Given the description of an element on the screen output the (x, y) to click on. 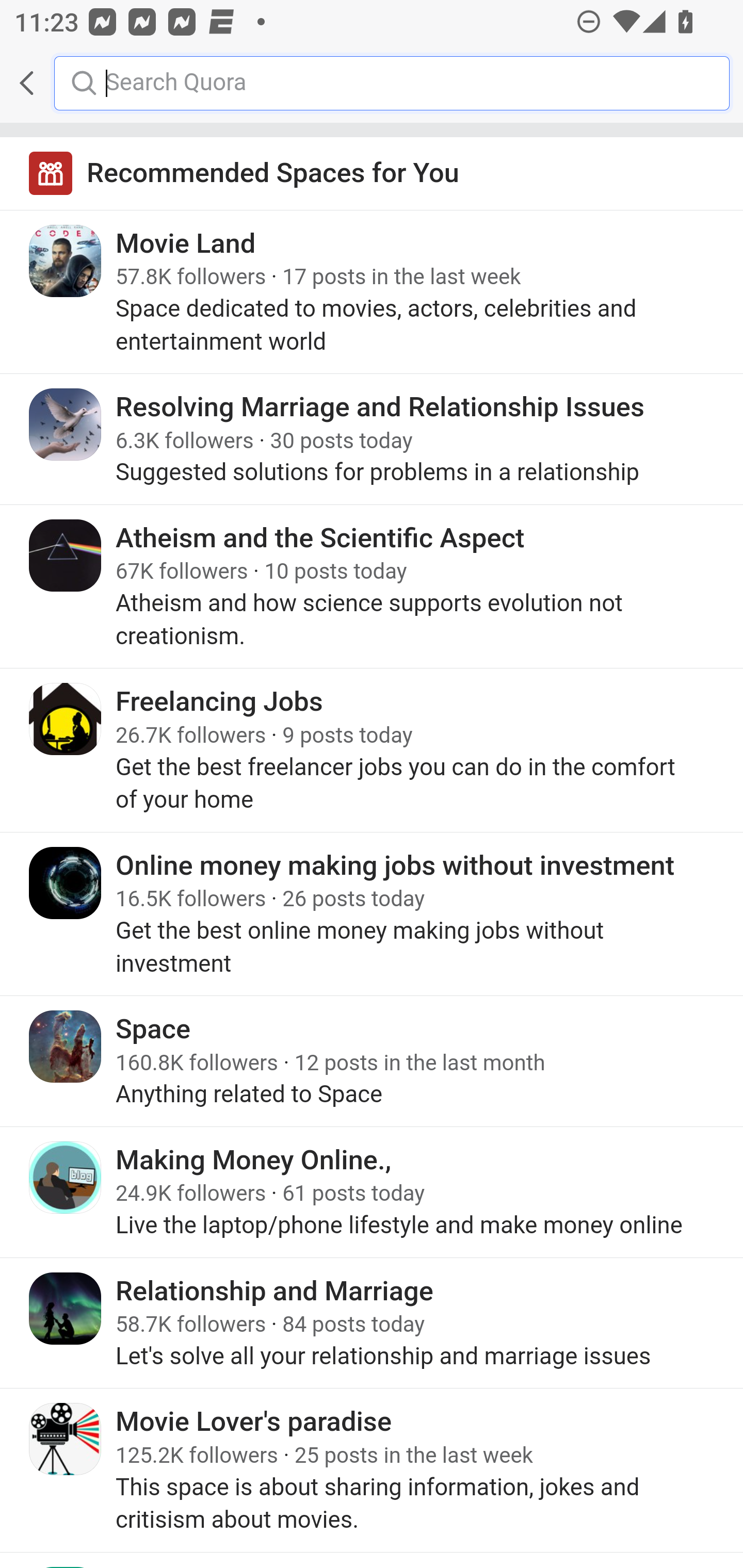
Me (64, 83)
Icon for Movie Land (65, 260)
Icon for Atheism and the Scientific Aspect (65, 554)
Icon for Freelancing Jobs (65, 718)
Icon for Space (65, 1045)
Icon for Making Money Online., (65, 1178)
Icon for Relationship and Marriage (65, 1308)
Icon for Movie Lover's paradise (65, 1439)
